Given the description of an element on the screen output the (x, y) to click on. 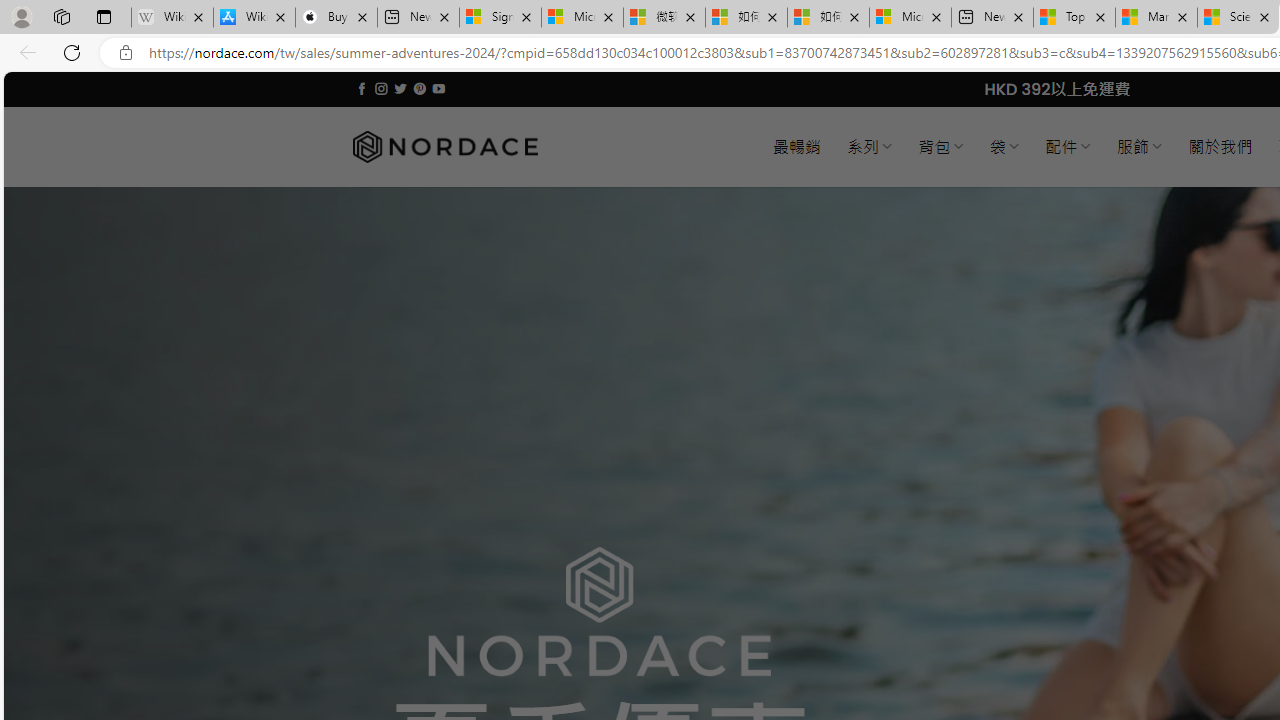
Follow on YouTube (438, 88)
Nordace (444, 147)
Follow on Facebook (361, 88)
Microsoft account | Account Checkup (910, 17)
Buy iPad - Apple (336, 17)
Sign in to your Microsoft account (500, 17)
Follow on Pinterest (419, 88)
Top Stories - MSN (1074, 17)
